Given the description of an element on the screen output the (x, y) to click on. 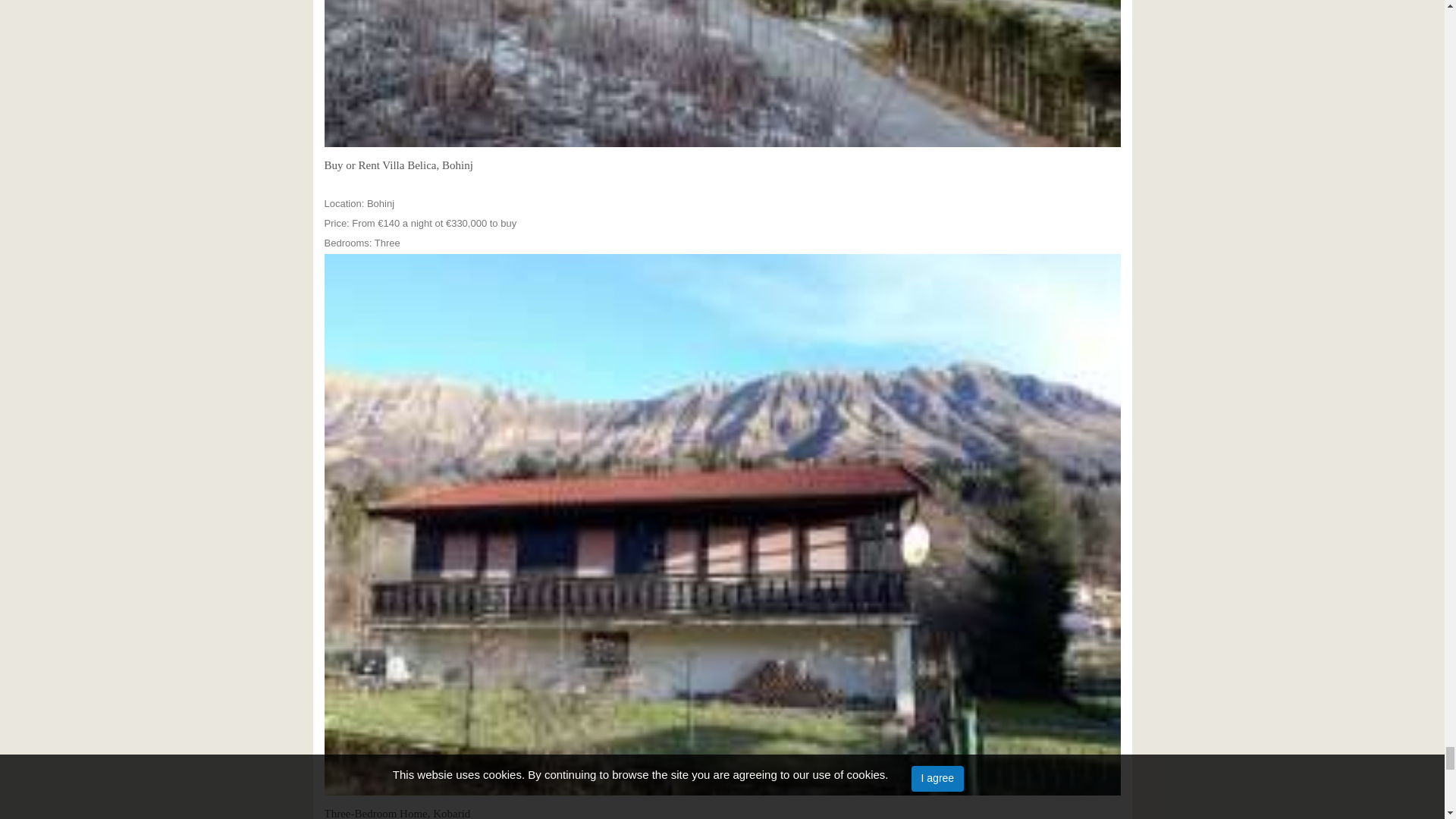
Continue reading "Buy or Rent Villa Belica, Bohinj" (722, 73)
